Given the description of an element on the screen output the (x, y) to click on. 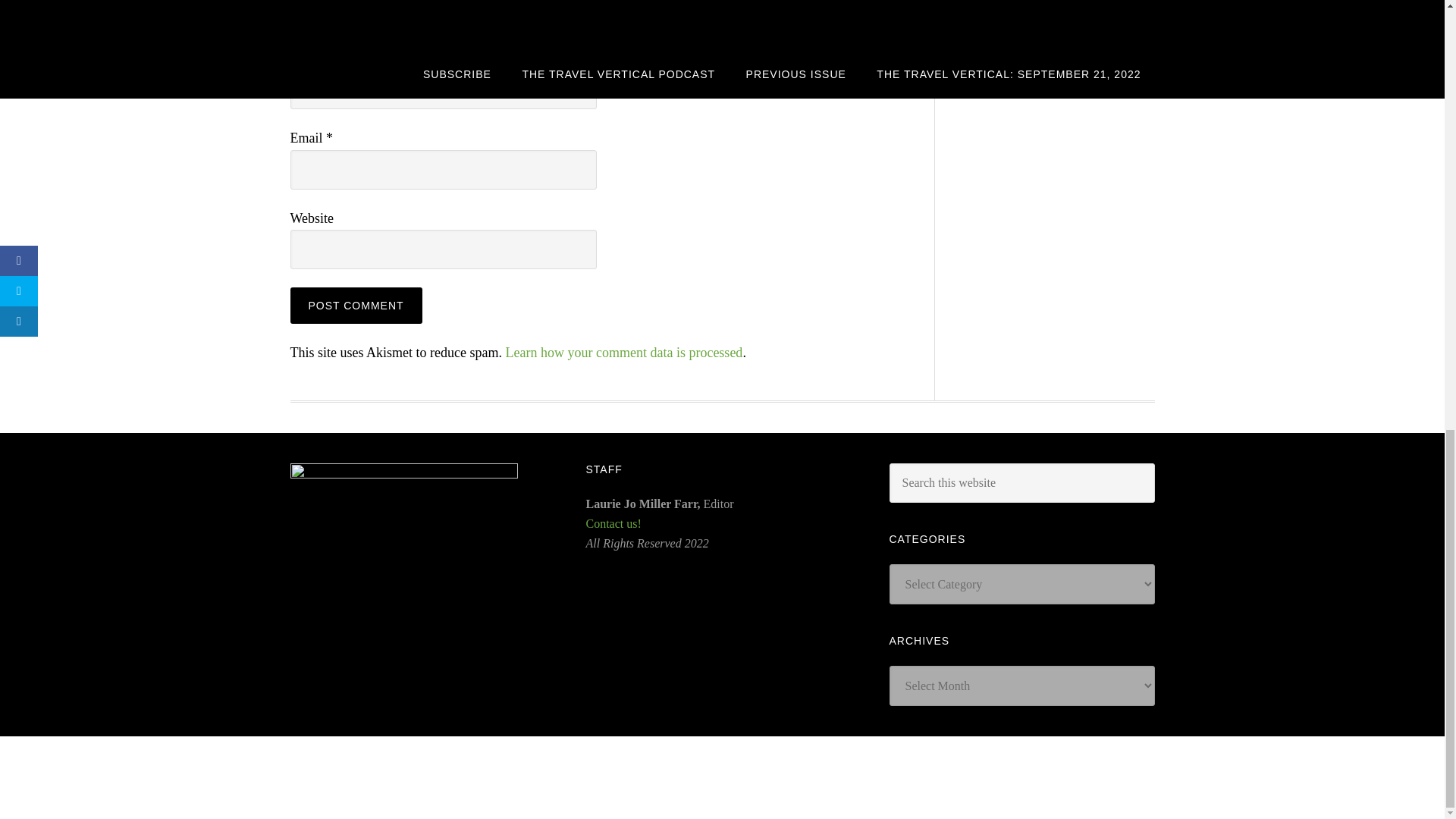
Post Comment (355, 305)
Learn how your comment data is processed (623, 352)
Contact us! (612, 522)
Post Comment (355, 305)
